Given the description of an element on the screen output the (x, y) to click on. 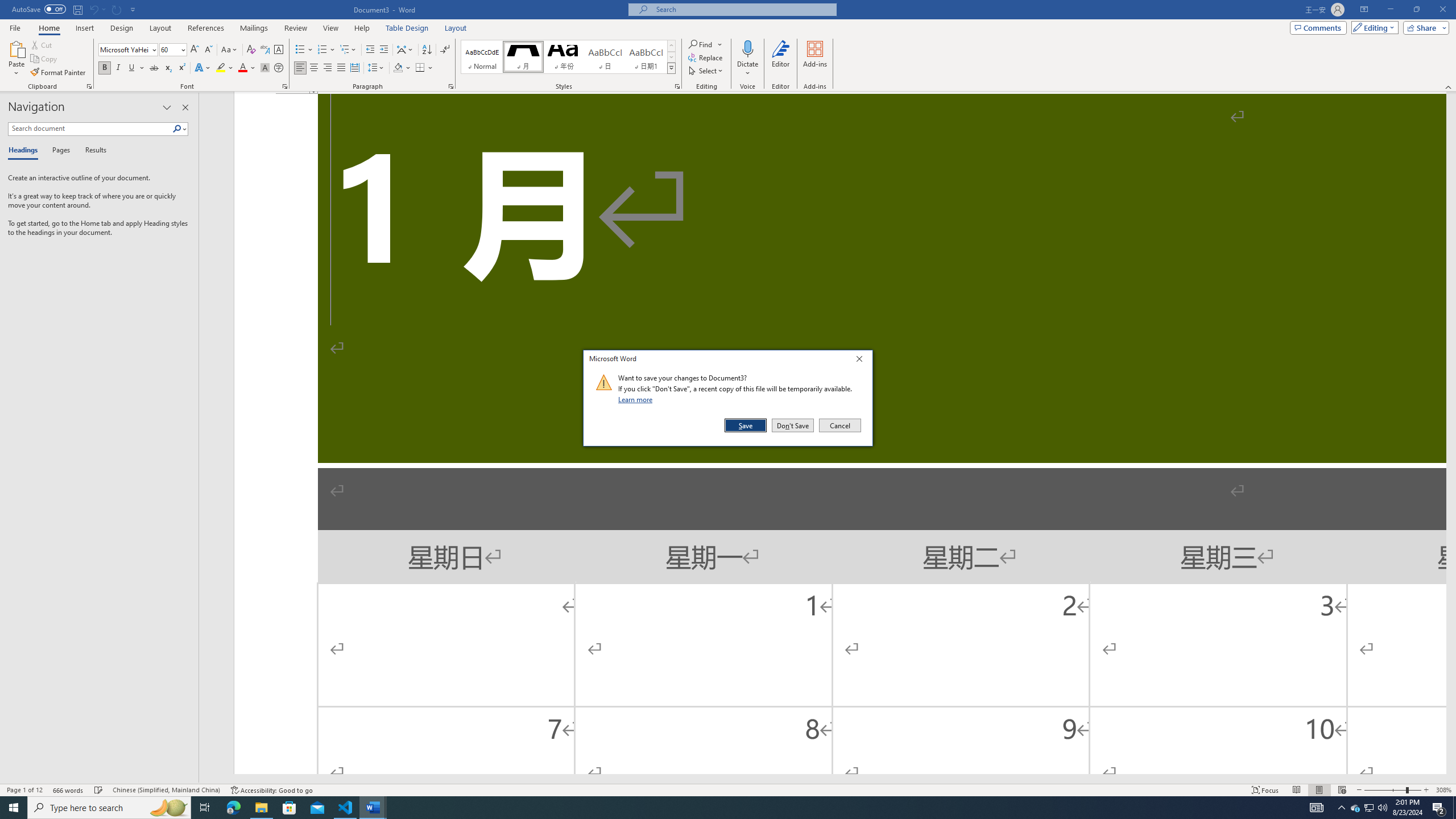
Quick Access Toolbar (74, 9)
Find (700, 44)
Visual Studio Code - 1 running window (345, 807)
Can't Undo (92, 9)
Search (177, 128)
Copy (45, 58)
Paragraph... (450, 85)
Word - 2 running windows (373, 807)
Search document (89, 128)
Print Layout (1318, 790)
Headings (25, 150)
